Given the description of an element on the screen output the (x, y) to click on. 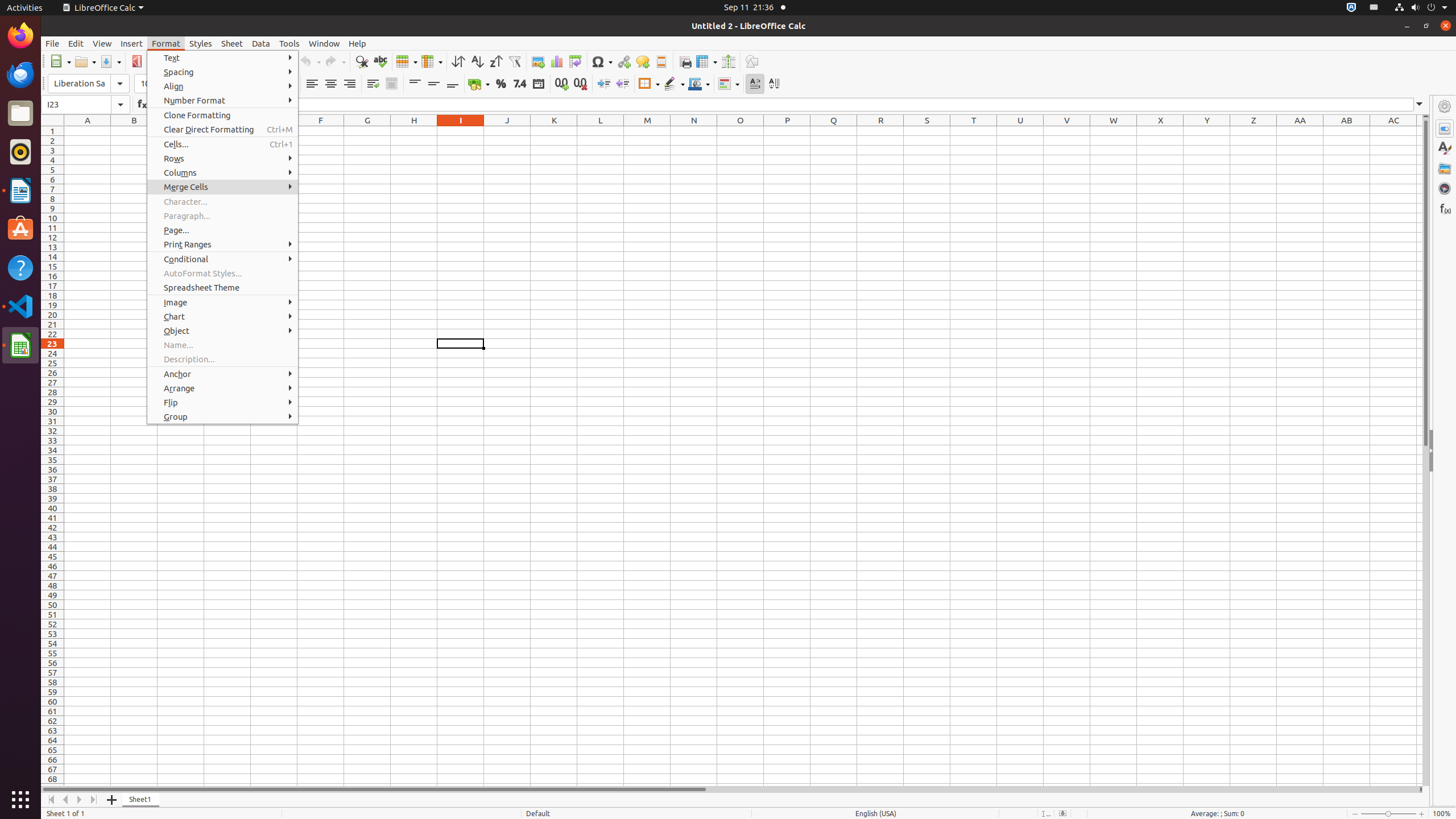
Arrange Element type: menu (222, 388)
Redo Element type: push-button (334, 61)
Freeze Rows and Columns Element type: push-button (705, 61)
Headers and Footers Element type: push-button (660, 61)
